Given the description of an element on the screen output the (x, y) to click on. 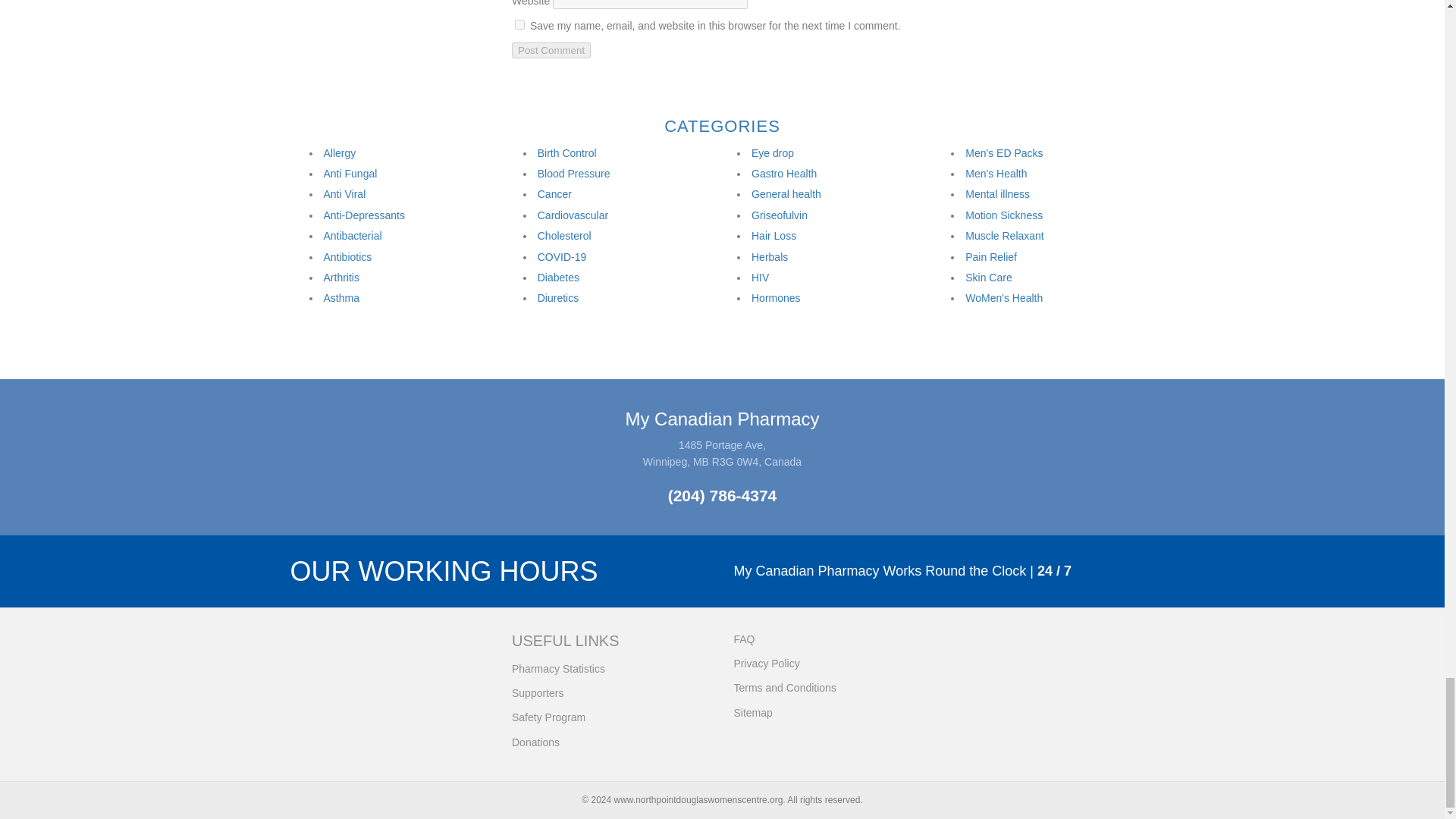
Post Comment (551, 50)
yes (519, 24)
Post Comment (551, 50)
